Given the description of an element on the screen output the (x, y) to click on. 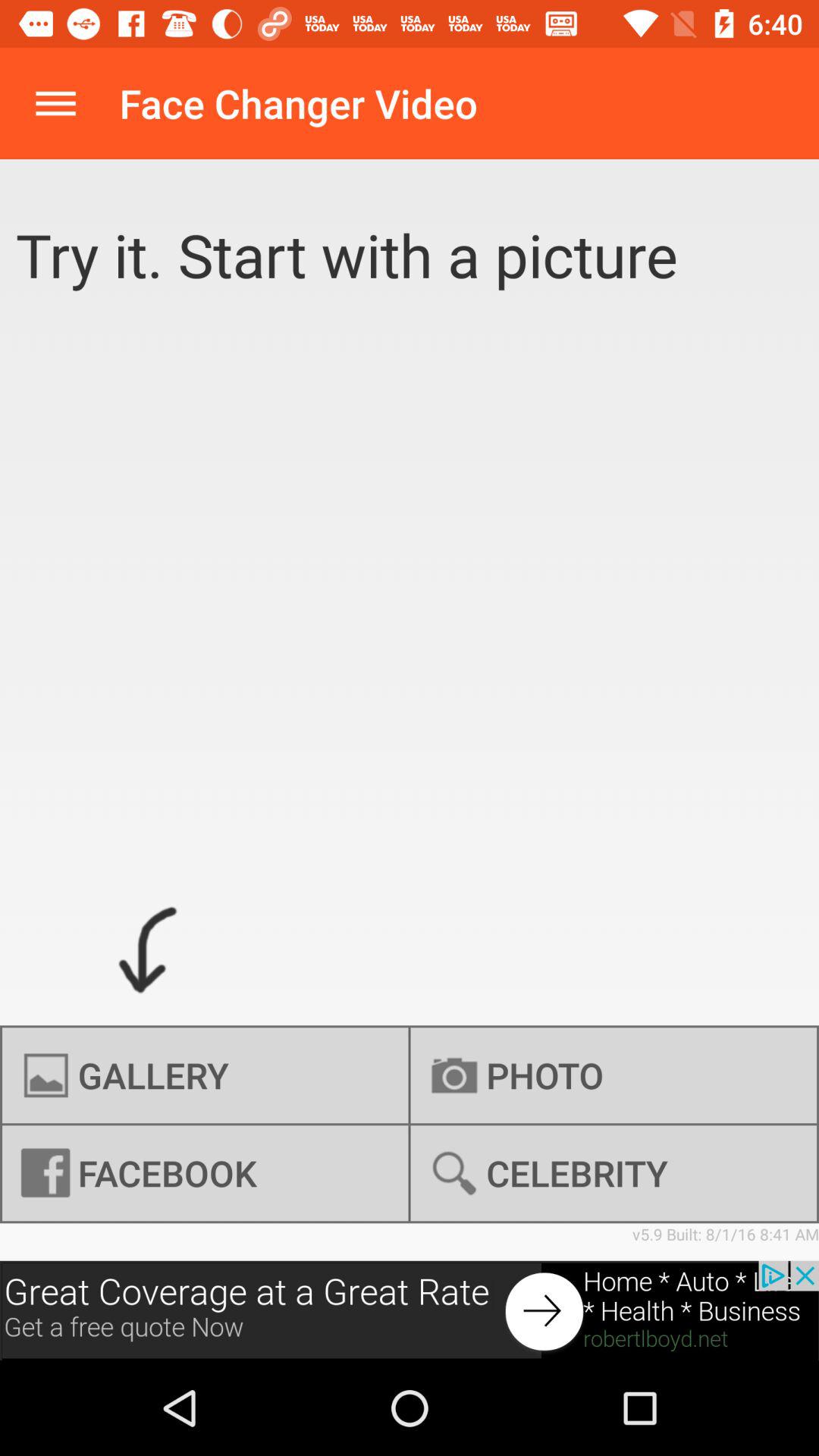
view robertboyd.net site (409, 1310)
